Given the description of an element on the screen output the (x, y) to click on. 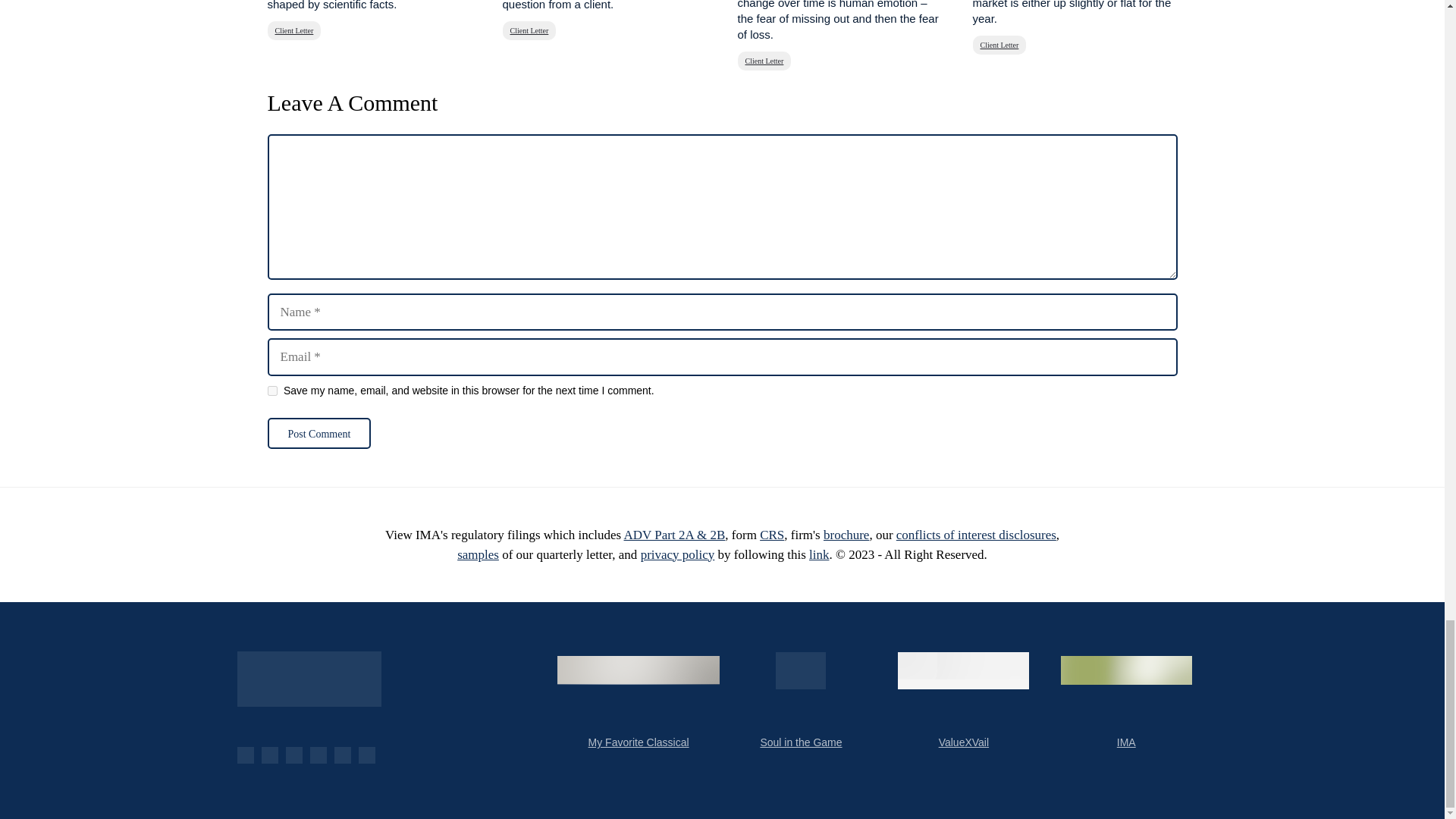
LinkedinLogo (317, 754)
YoutubeLogo (269, 754)
FacebookLogo (244, 754)
Post Comment (318, 432)
TiktokLogo (366, 754)
Client Letter (293, 30)
Client Letter (763, 60)
TwitterLogo (293, 754)
The Intellectual Investor by Vitaliy Katsenelson (307, 678)
Client Letter (529, 30)
